Given the description of an element on the screen output the (x, y) to click on. 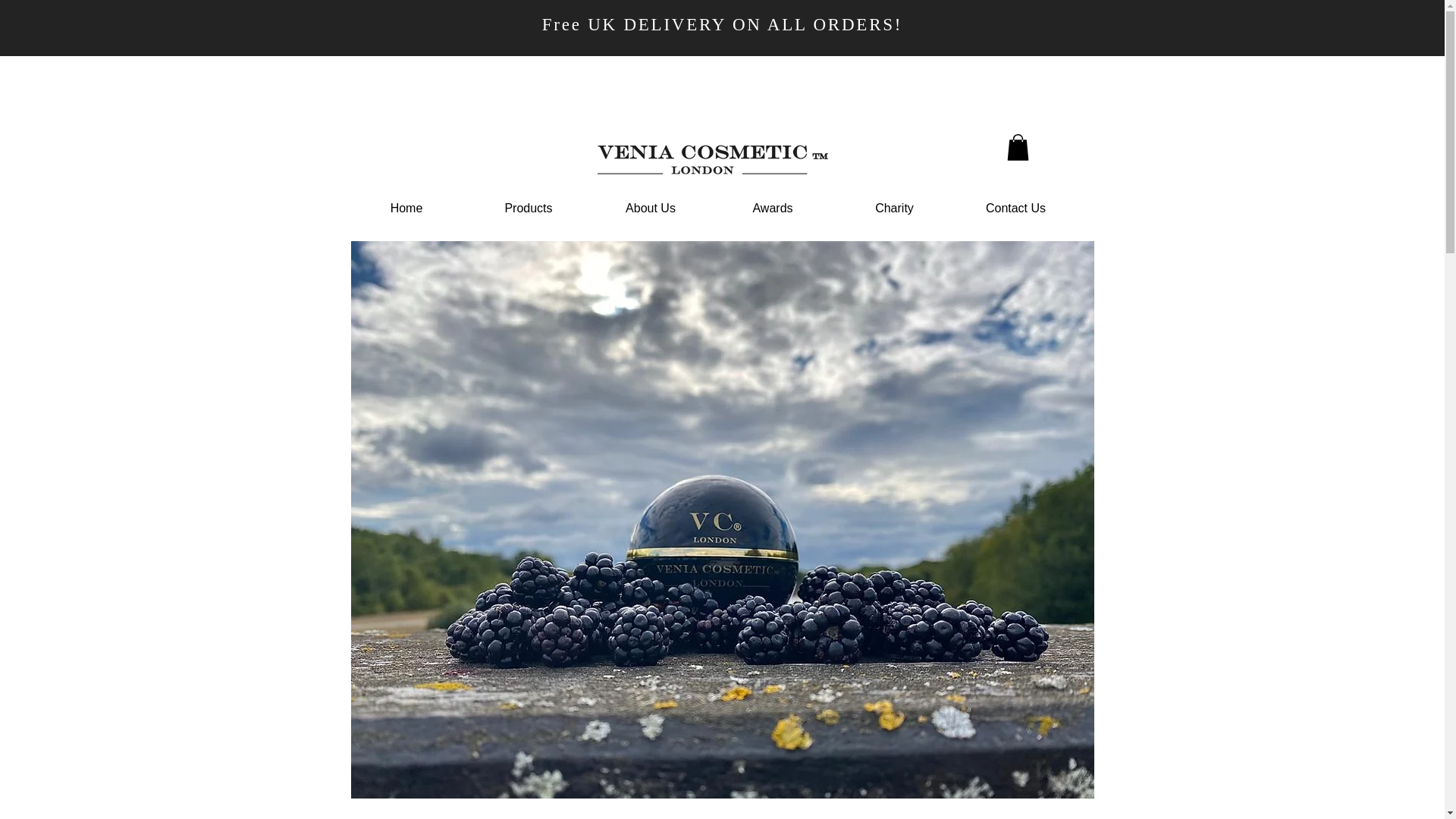
Contact Us (1016, 207)
Home (406, 207)
Awards (771, 207)
Products (528, 207)
About Us (650, 207)
Charity (894, 207)
